Given the description of an element on the screen output the (x, y) to click on. 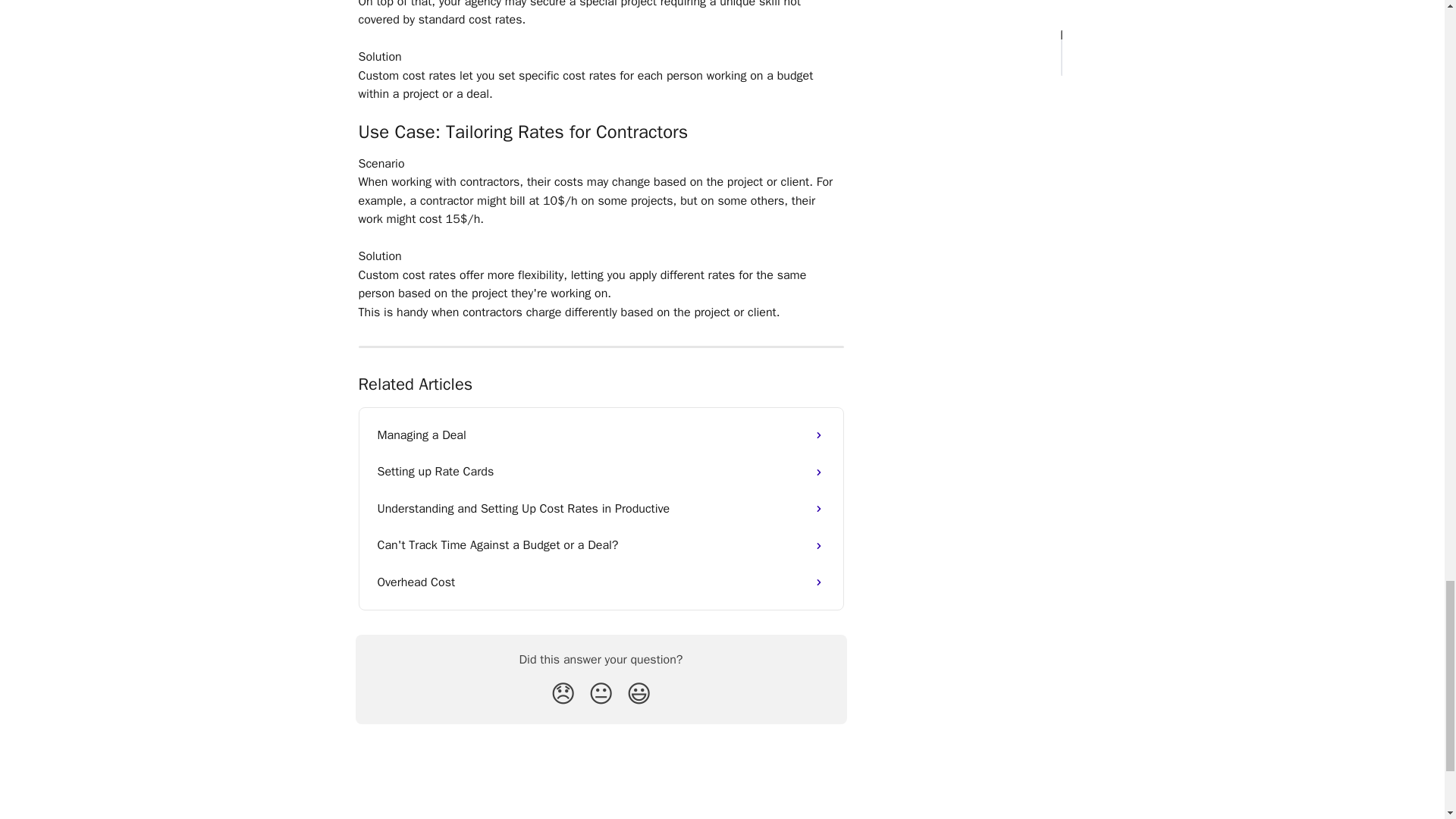
Overhead Cost (601, 582)
Understanding and Setting Up Cost Rates in Productive (601, 508)
Setting up Rate Cards (601, 471)
Can't Track Time Against a Budget or a Deal? (601, 545)
Managing a Deal (601, 434)
